Given the description of an element on the screen output the (x, y) to click on. 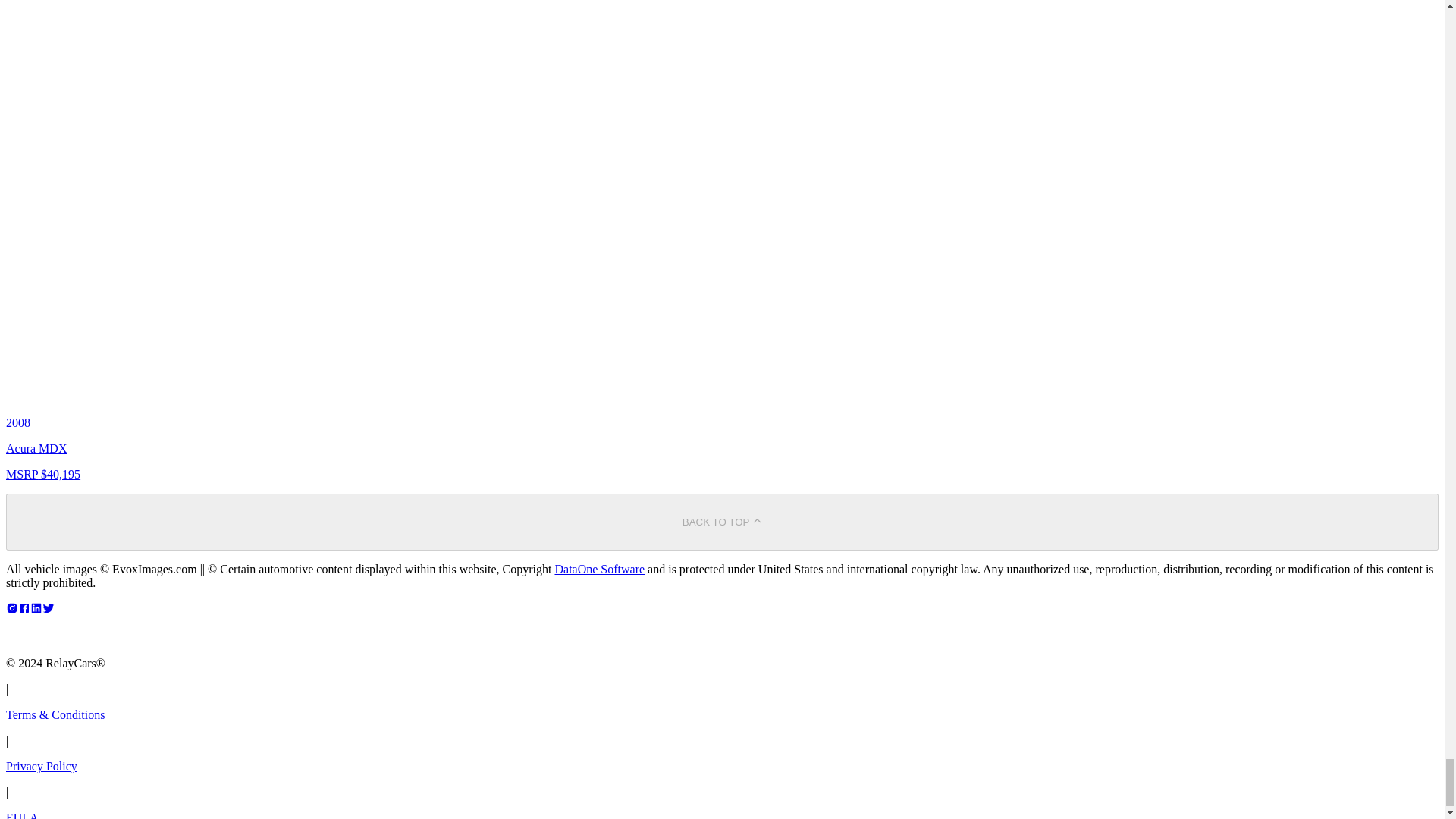
Privacy Policy (41, 766)
DataOne Software (599, 568)
